Given the description of an element on the screen output the (x, y) to click on. 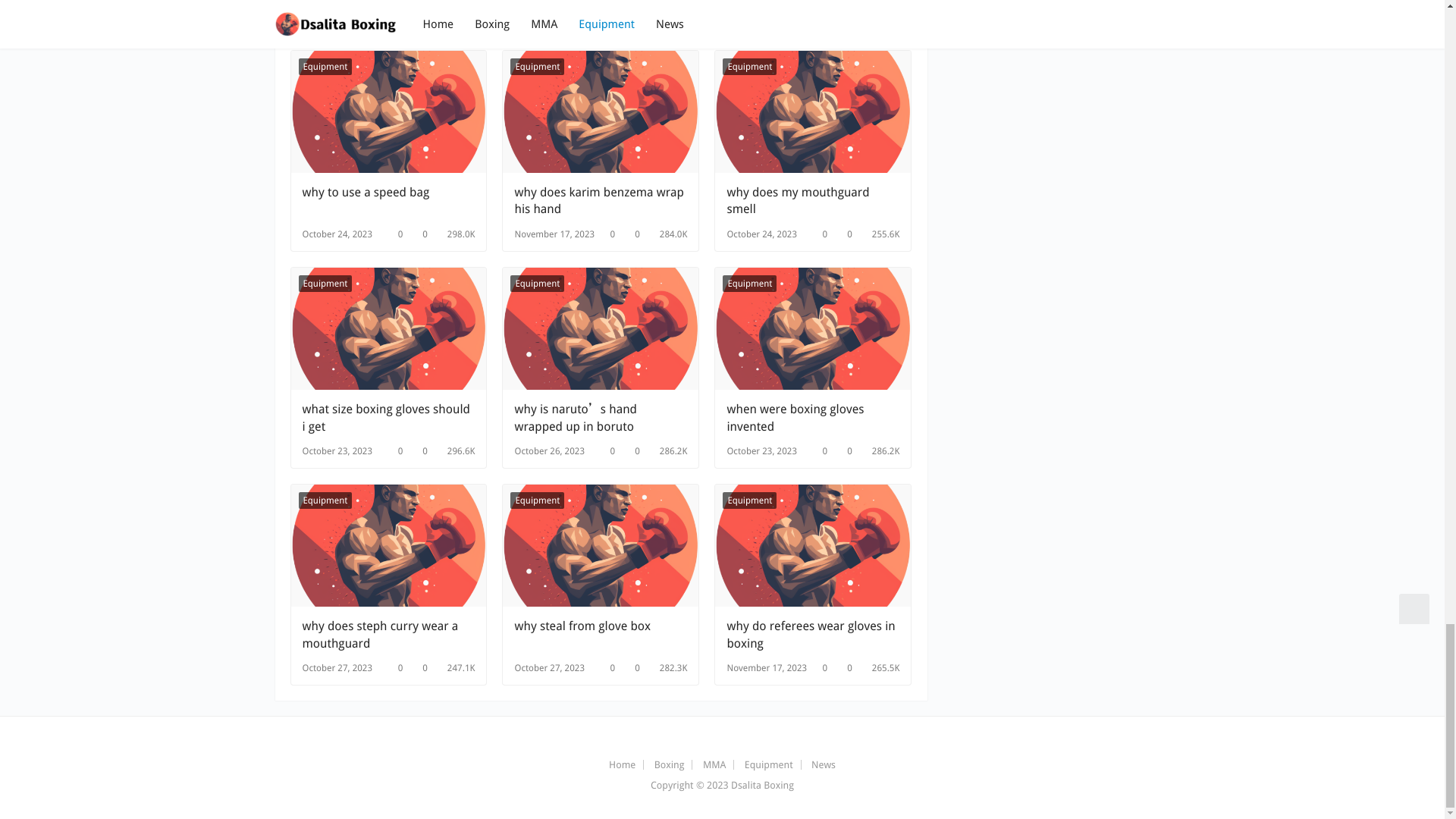
why to use a speed bag (387, 200)
Equipment (749, 66)
why does my mouthguard smell (812, 200)
why does my mouthguard smell (812, 111)
what size boxing gloves should i get (387, 417)
Equipment (537, 66)
why does karim benzema wrap his hand (600, 200)
what size boxing gloves should i get (388, 328)
Equipment (325, 66)
why to use a speed bag (388, 111)
why does my mouthguard smell (812, 200)
Equipment (325, 283)
